Given the description of an element on the screen output the (x, y) to click on. 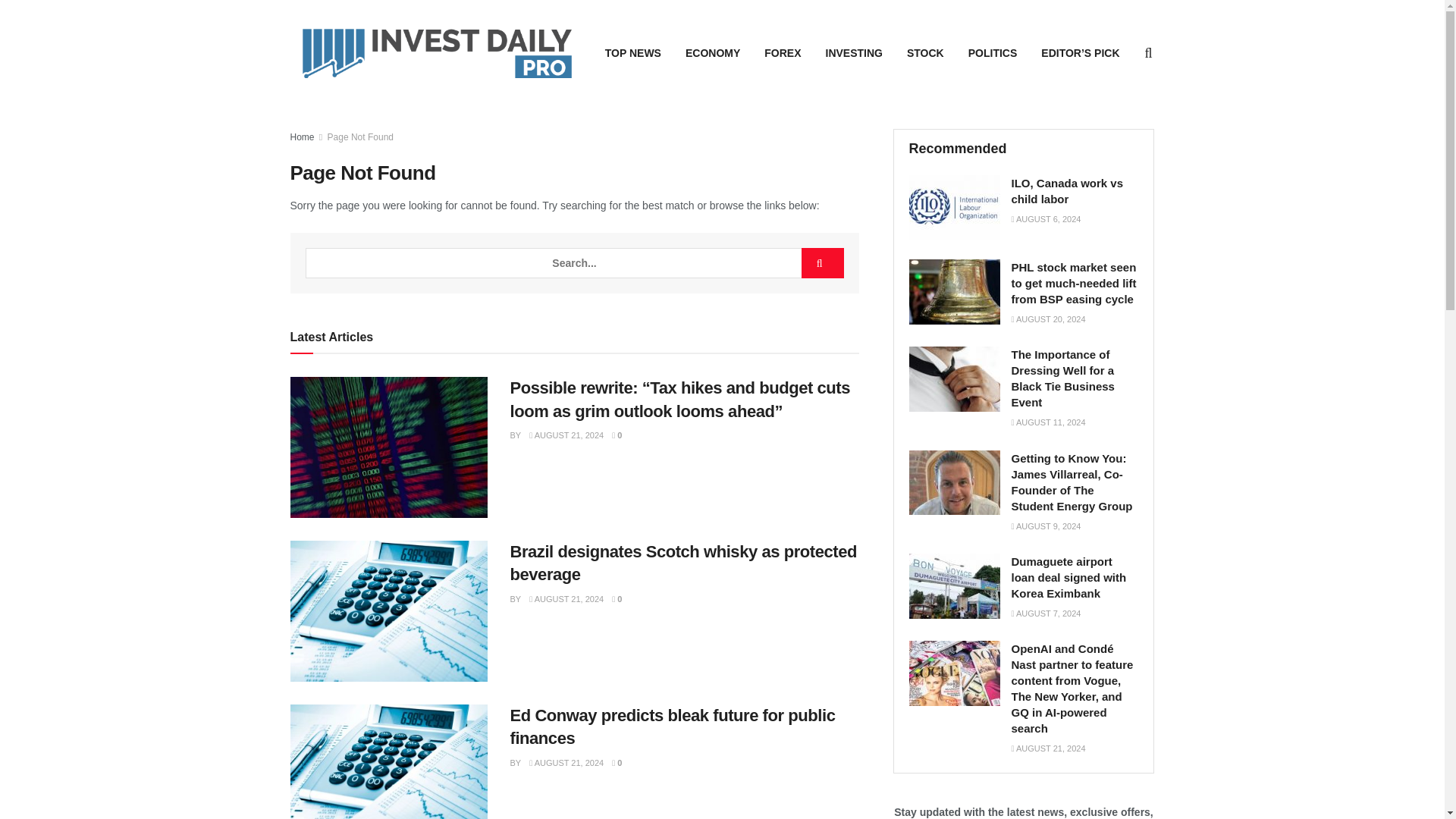
0 (616, 434)
STOCK (925, 53)
TOP NEWS (632, 53)
Page Not Found (360, 136)
Brazil designates Scotch whisky as protected beverage (682, 563)
AUGUST 21, 2024 (566, 598)
AUGUST 21, 2024 (566, 762)
POLITICS (992, 53)
Home (301, 136)
FOREX (782, 53)
